Given the description of an element on the screen output the (x, y) to click on. 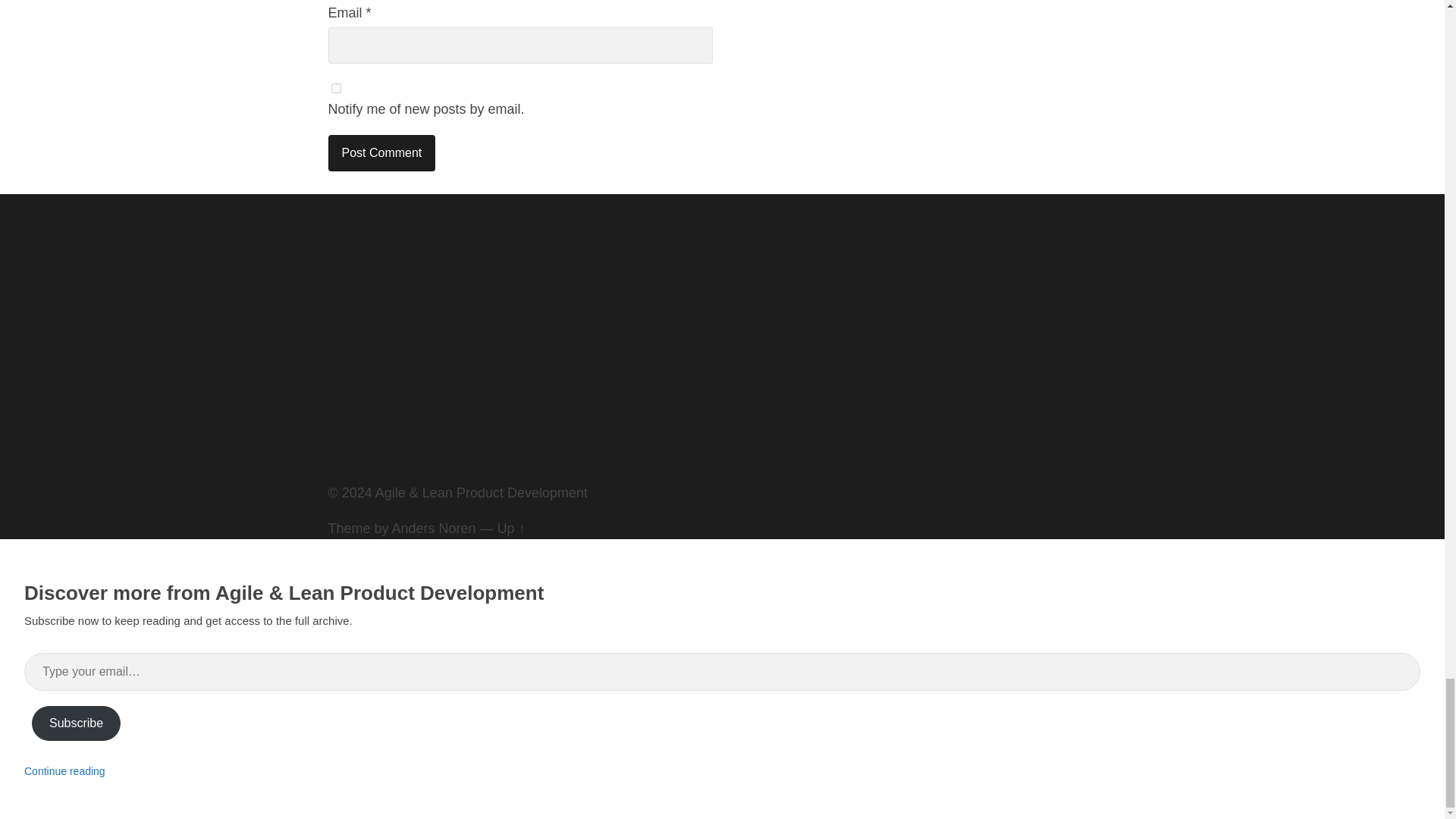
subscribe (335, 88)
Please fill in this field. (722, 671)
To the top (511, 528)
Post Comment (381, 153)
Post Comment (381, 153)
